Given the description of an element on the screen output the (x, y) to click on. 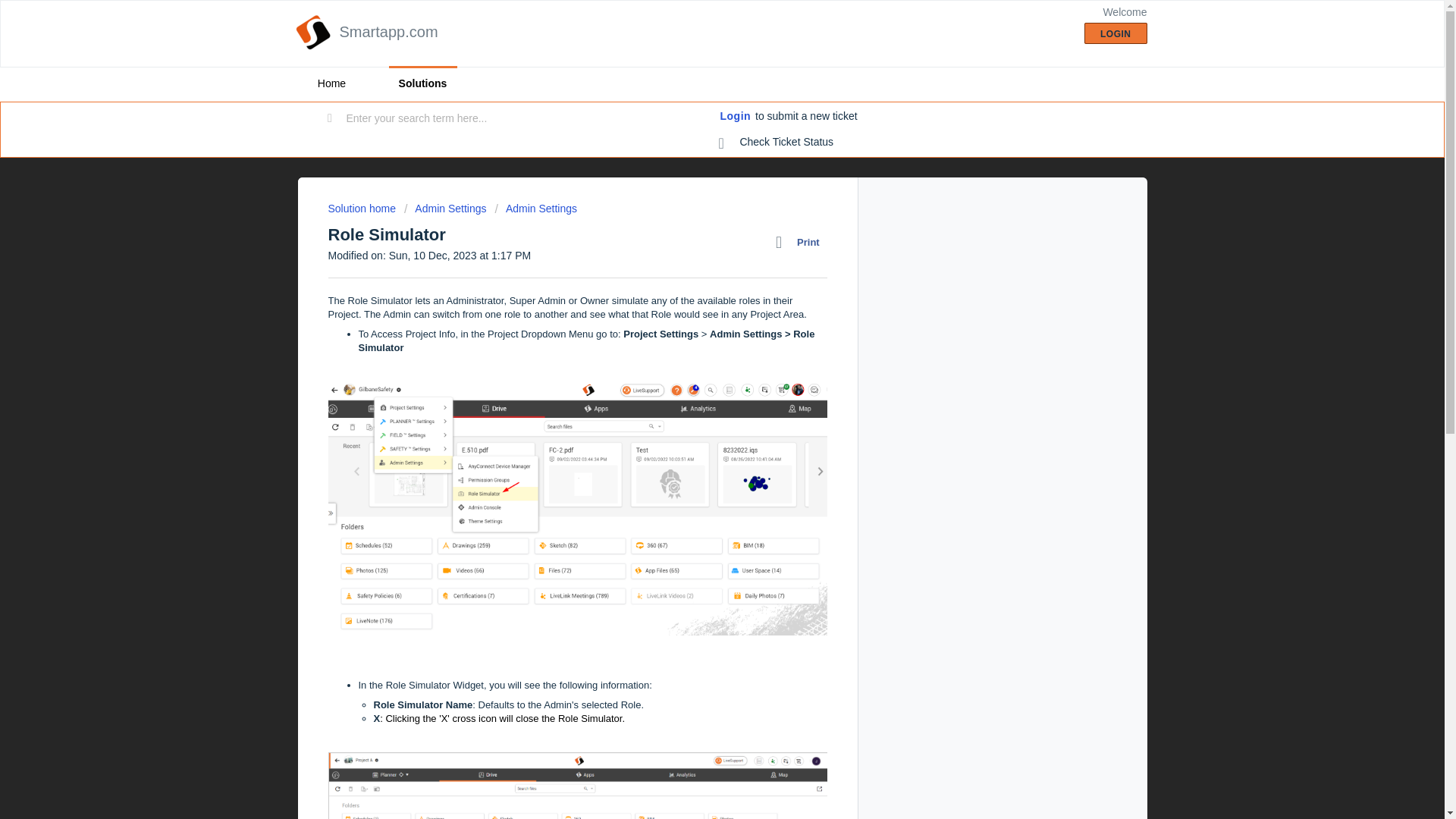
Admin Settings (535, 208)
Solution home (362, 208)
Check Ticket Status (776, 142)
Solutions (422, 83)
Check ticket status (776, 142)
Print (801, 242)
Print this Article (801, 242)
Login (735, 116)
Home (331, 83)
Admin Settings (445, 208)
LOGIN (1115, 33)
